Given the description of an element on the screen output the (x, y) to click on. 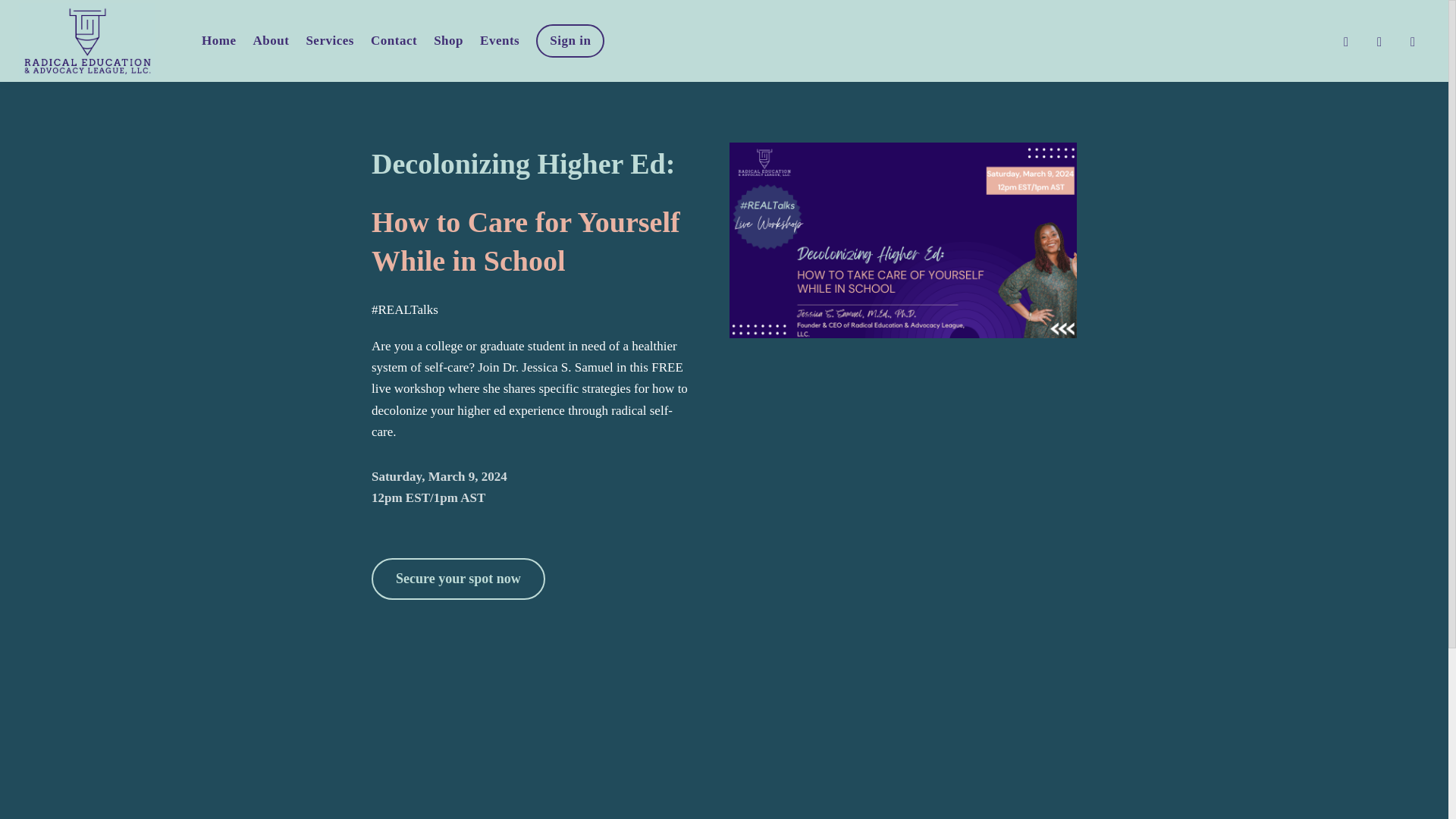
Events (499, 40)
Secure your spot now (457, 578)
Shop (448, 40)
About (269, 40)
Home (218, 40)
Sign in (569, 40)
Services (329, 40)
Contact (393, 40)
